Given the description of an element on the screen output the (x, y) to click on. 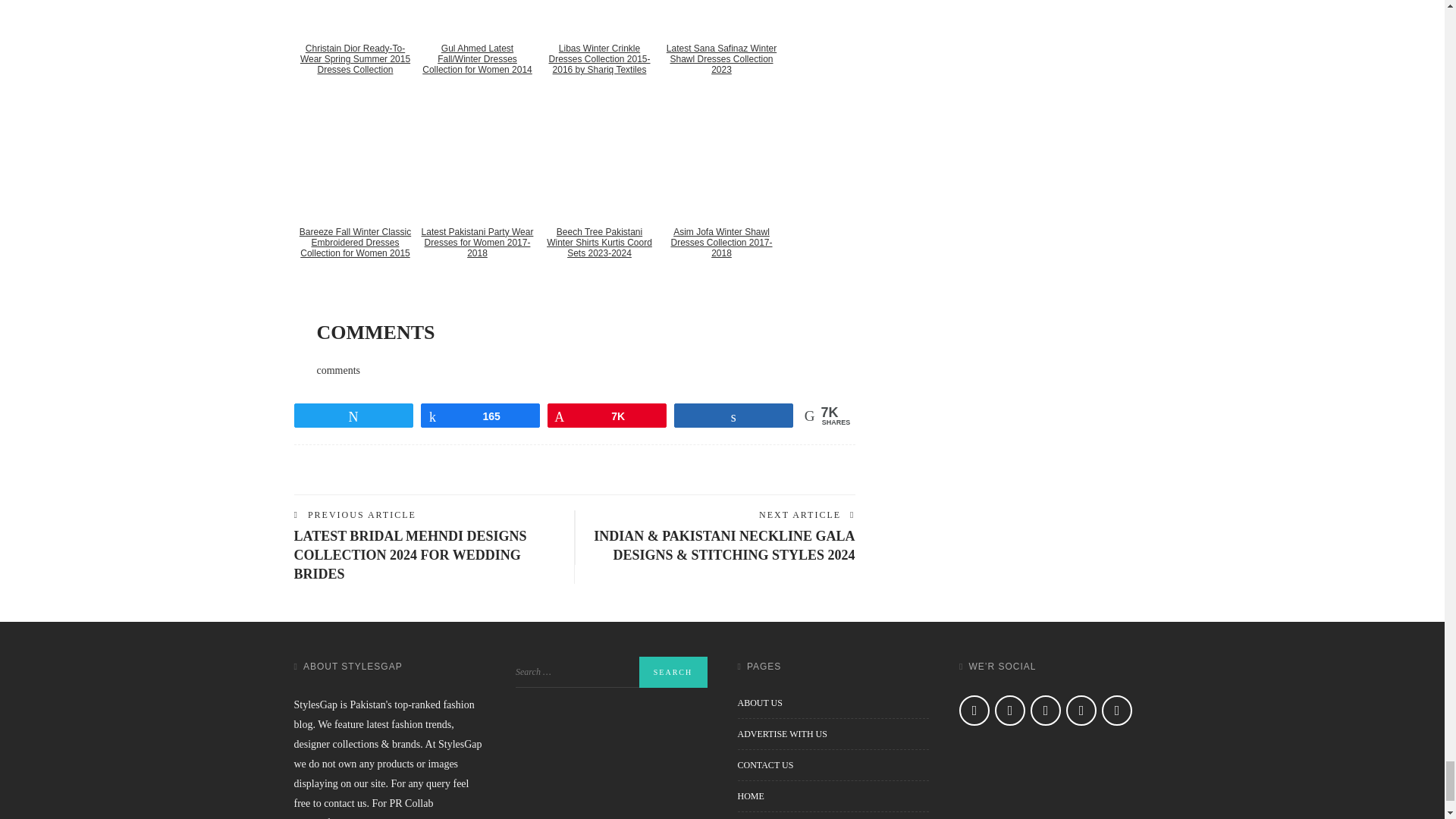
Search (672, 671)
Search (672, 671)
